Given the description of an element on the screen output the (x, y) to click on. 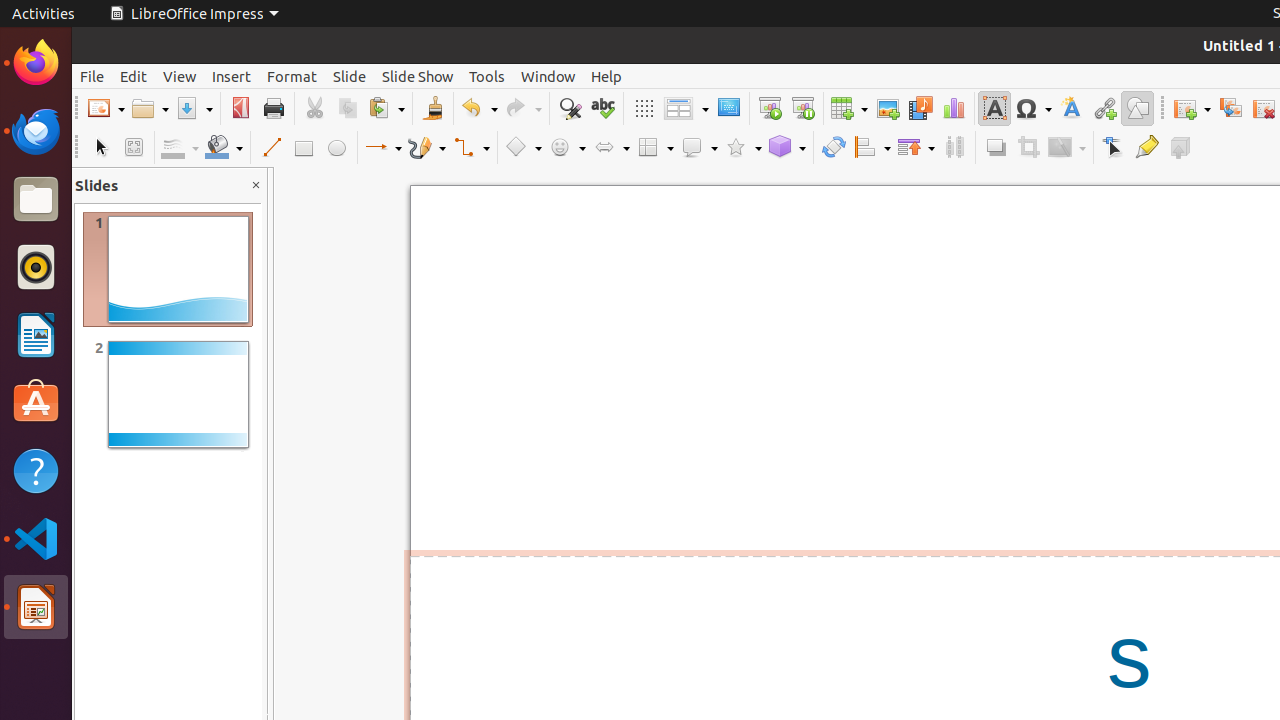
Symbol Shapes Element type: push-button (567, 147)
Redo Element type: push-button (523, 108)
Slide Show Element type: menu (417, 76)
Ubuntu Software Element type: push-button (36, 402)
PDF Element type: push-button (240, 108)
